Given the description of an element on the screen output the (x, y) to click on. 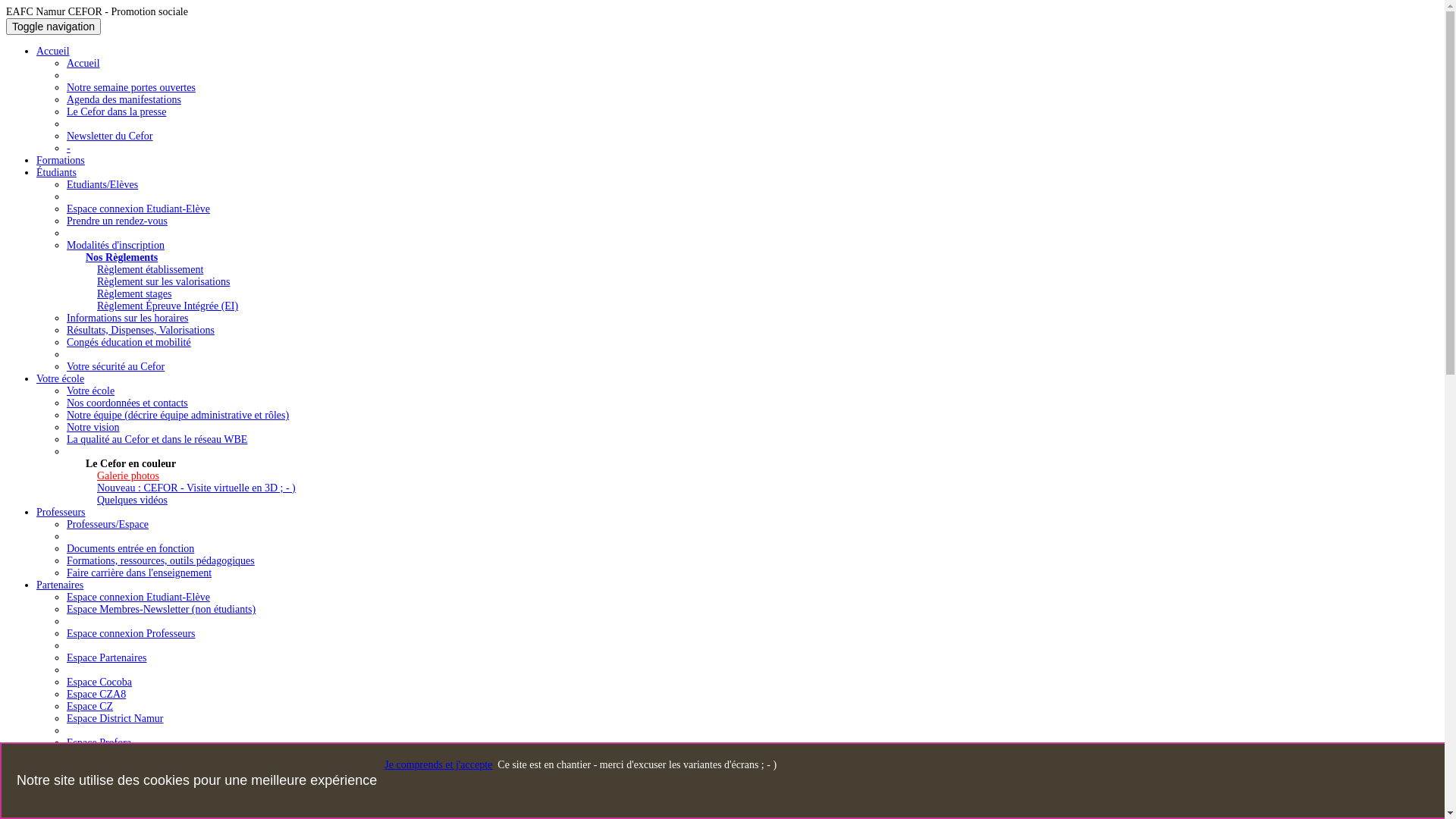
Panier Element type: text (49, 778)
Accueil Element type: text (52, 50)
Espace Partenaires Element type: text (106, 657)
Professeurs/Espace Element type: text (107, 524)
Agenda des manifestations Element type: text (123, 99)
Professeurs Element type: text (60, 511)
Notre vision Element type: text (92, 427)
Espace CSR-EPS Element type: text (103, 754)
Espace District Namur Element type: text (114, 718)
Espace connexion Professeurs Element type: text (130, 633)
Nouveau : CEFOR - Visite virtuelle en 3D ; - ) Element type: text (196, 487)
Je comprends et j'accepte Element type: text (438, 764)
Prendre un rendez-vous Element type: text (116, 220)
Espace CZA8 Element type: text (95, 693)
Toggle navigation Element type: text (53, 26)
Newsletter du Cefor Element type: text (109, 135)
Le Cefor dans la presse Element type: text (116, 111)
Espace Profora Element type: text (98, 742)
Partenaires Element type: text (59, 584)
Accueil Element type: text (83, 63)
Formations Element type: text (60, 160)
Informations sur les horaires Element type: text (127, 317)
Espace Cocoba Element type: text (98, 681)
Galerie photos Element type: text (128, 475)
Connexion Element type: text (59, 791)
- Element type: text (68, 147)
Notre semaine portes ouvertes Element type: text (130, 87)
Espace CZ Element type: text (89, 706)
Contact Element type: text (52, 766)
